Given the description of an element on the screen output the (x, y) to click on. 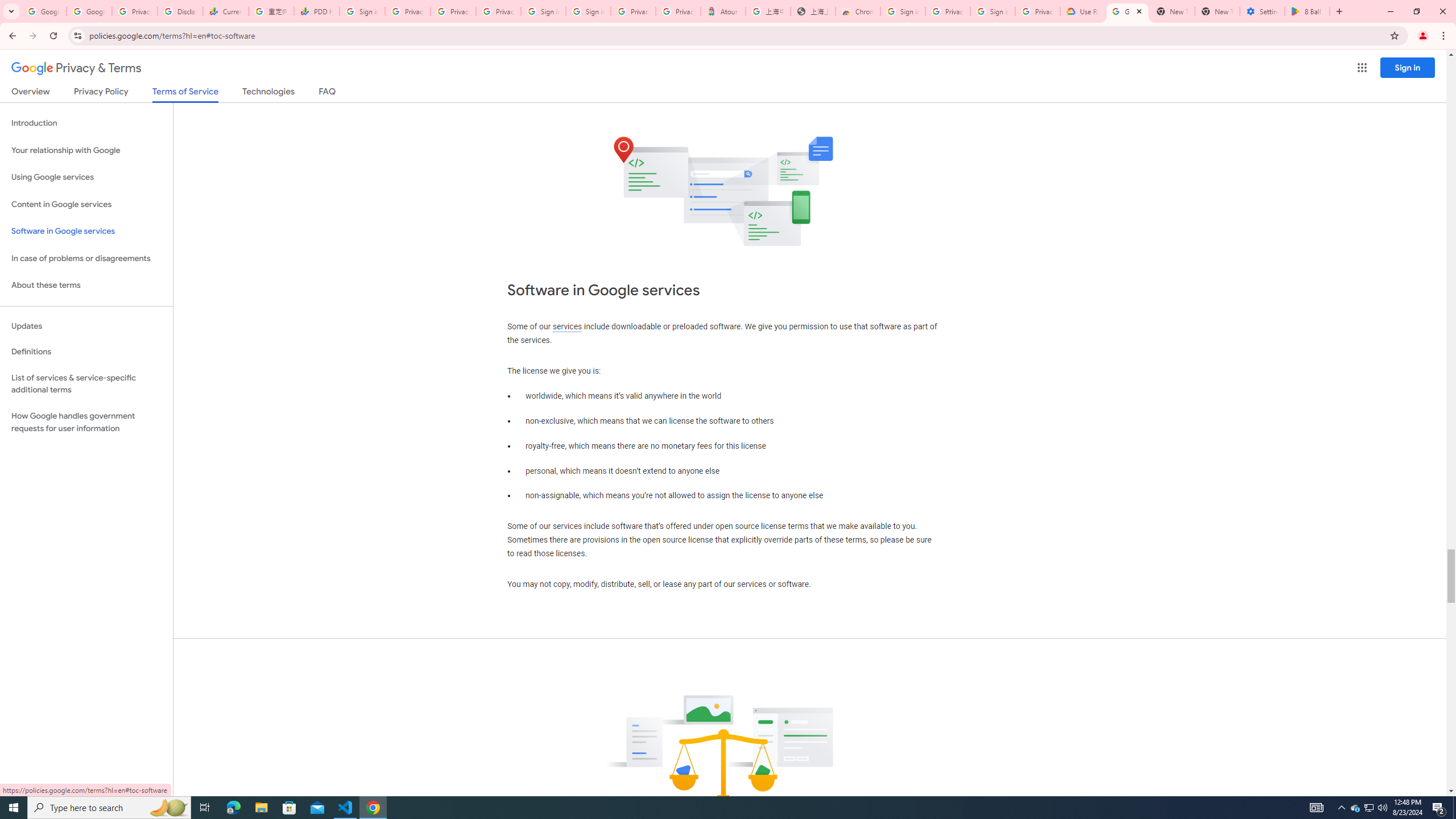
Privacy Checkup (497, 11)
services (566, 326)
Sign in - Google Accounts (587, 11)
Privacy Checkup (452, 11)
Settings - System (1262, 11)
PDD Holdings Inc - ADR (PDD) Price & News - Google Finance (316, 11)
Currencies - Google Finance (225, 11)
